Given the description of an element on the screen output the (x, y) to click on. 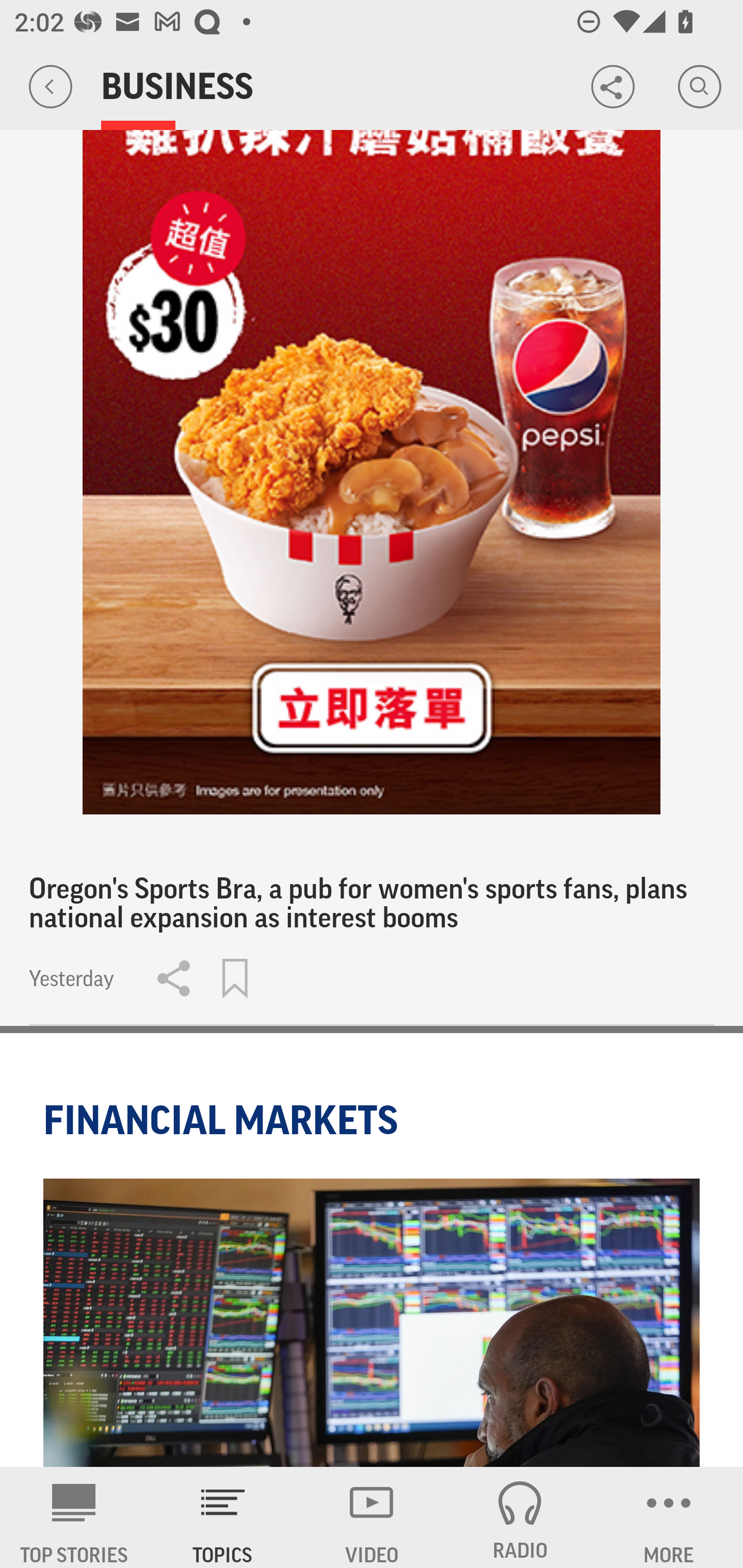
Advertisement (371, 407)
FINANCIAL MARKETS (223, 1120)
AP News TOP STORIES (74, 1517)
TOPICS (222, 1517)
VIDEO (371, 1517)
RADIO (519, 1517)
MORE (668, 1517)
